Given the description of an element on the screen output the (x, y) to click on. 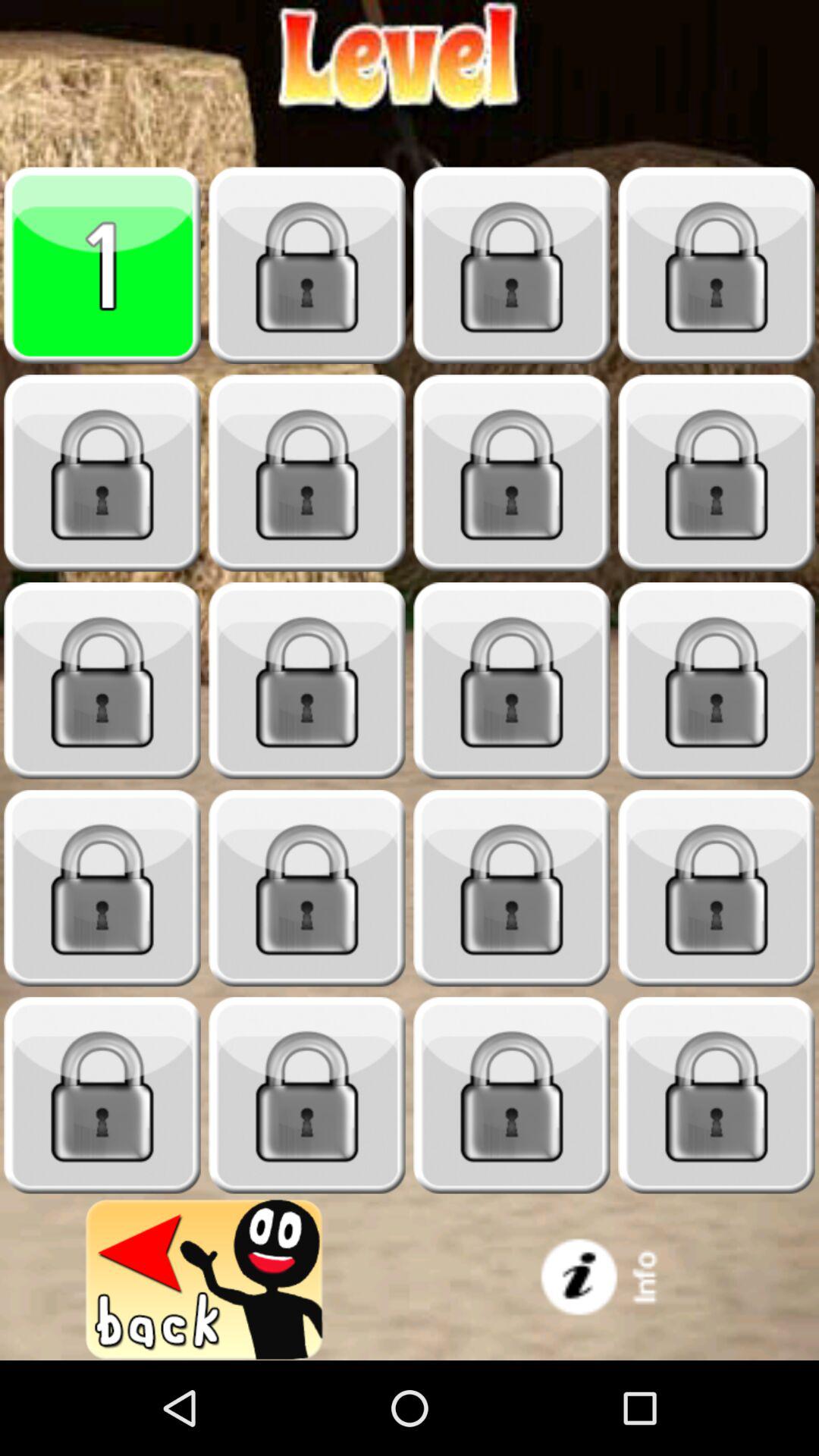
lock button (511, 473)
